Given the description of an element on the screen output the (x, y) to click on. 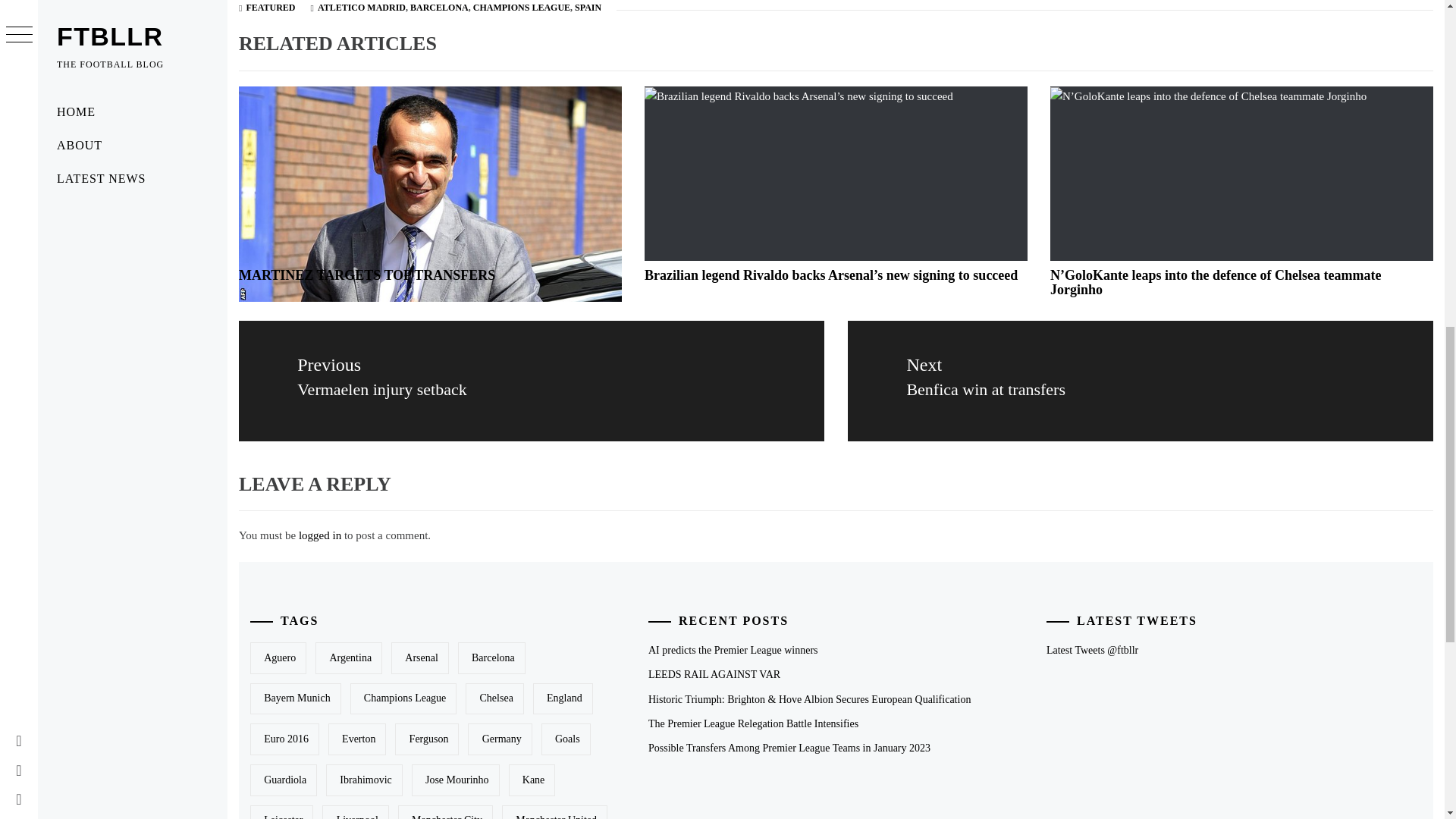
ATLETICO MADRID (361, 7)
Champions League (403, 698)
Barcelona (491, 658)
FEATURED (270, 7)
CHAMPIONS LEAGUE (521, 7)
MARTINEZ TARGETS TOP TRANSFERS (1139, 381)
logged in (531, 381)
BARCELONA (366, 274)
Bayern Munich (319, 535)
Argentina (439, 7)
Arsenal (295, 698)
MARTINEZ TARGETS TOP TRANSFERS (348, 658)
SPAIN (419, 658)
